Given the description of an element on the screen output the (x, y) to click on. 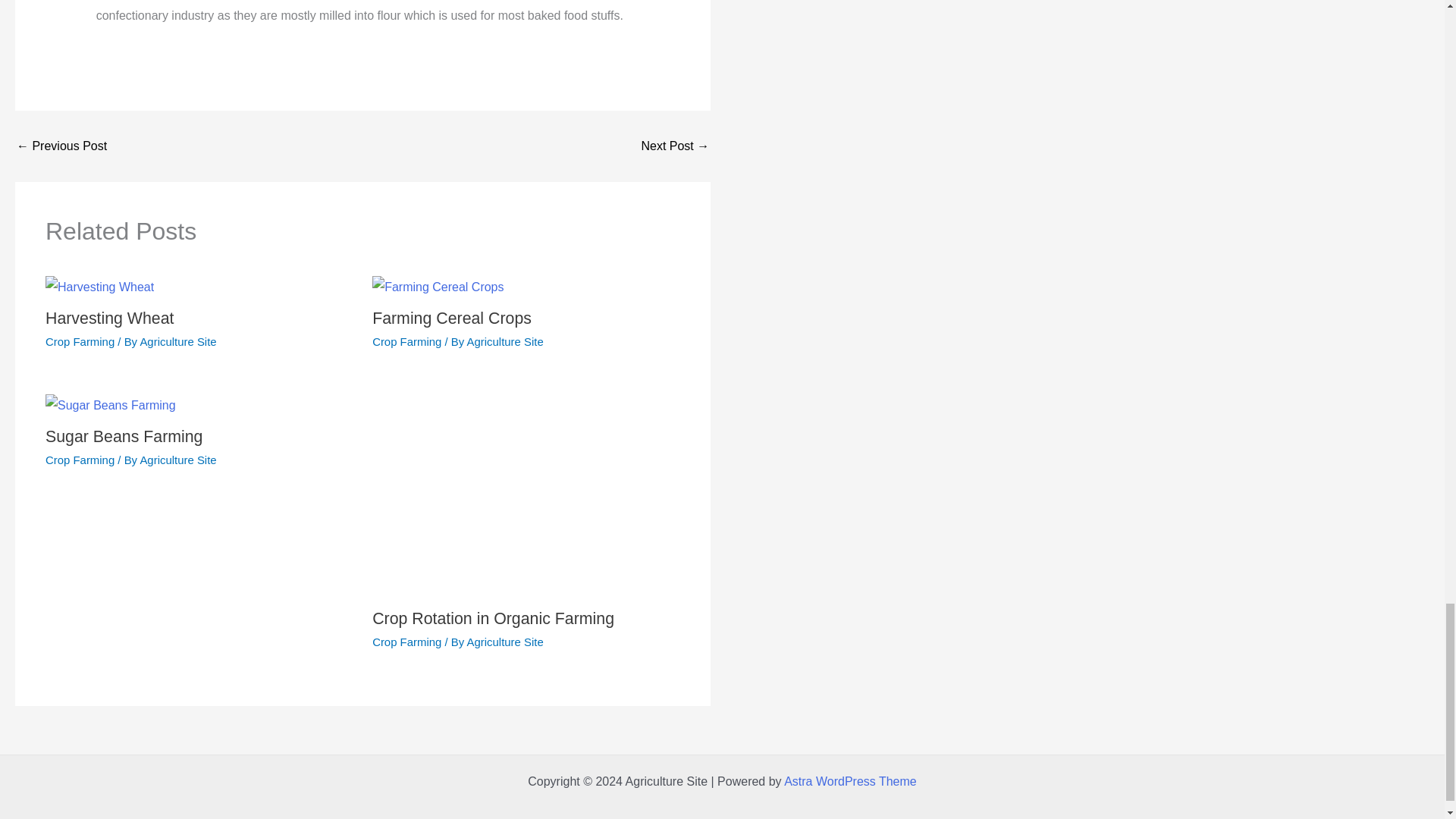
Agriculture Site (177, 459)
Crop Farming (406, 641)
Agriculture Site (505, 641)
View all posts by Agriculture Site (505, 641)
Farming Cereal Crops (451, 318)
Crop Rotation in Organic Farming (493, 618)
View all posts by Agriculture Site (505, 341)
Crop Farming (406, 341)
Treatment of Diarrhea in Goats (61, 146)
View all posts by Agriculture Site (177, 341)
Agriculture Site (177, 341)
Harvesting Wheat (109, 318)
Crop Farming (80, 459)
Soybean Meal for Poultry Feed (674, 146)
Crop Farming (80, 341)
